Given the description of an element on the screen output the (x, y) to click on. 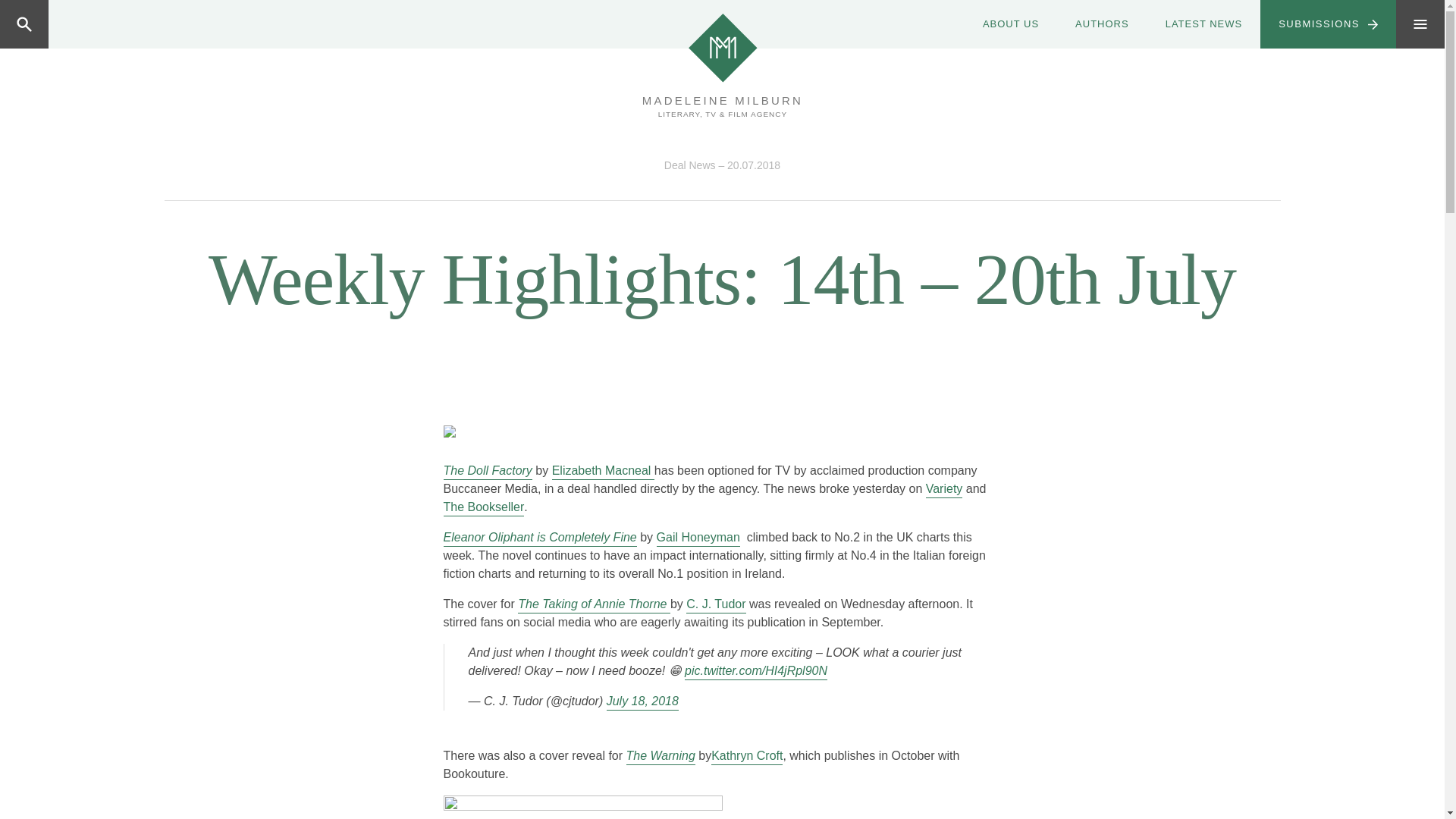
The Warning (660, 755)
LATEST NEWS (1203, 24)
ABOUT US (1010, 24)
SUBMISSIONS (1328, 24)
Search (84, 24)
Kathryn Croft (747, 755)
Gail Honeyman (697, 537)
Eleanor Oliphant is Completely Fine (539, 537)
The Bookseller (483, 506)
Elizabeth Macneal  (602, 470)
